Given the description of an element on the screen output the (x, y) to click on. 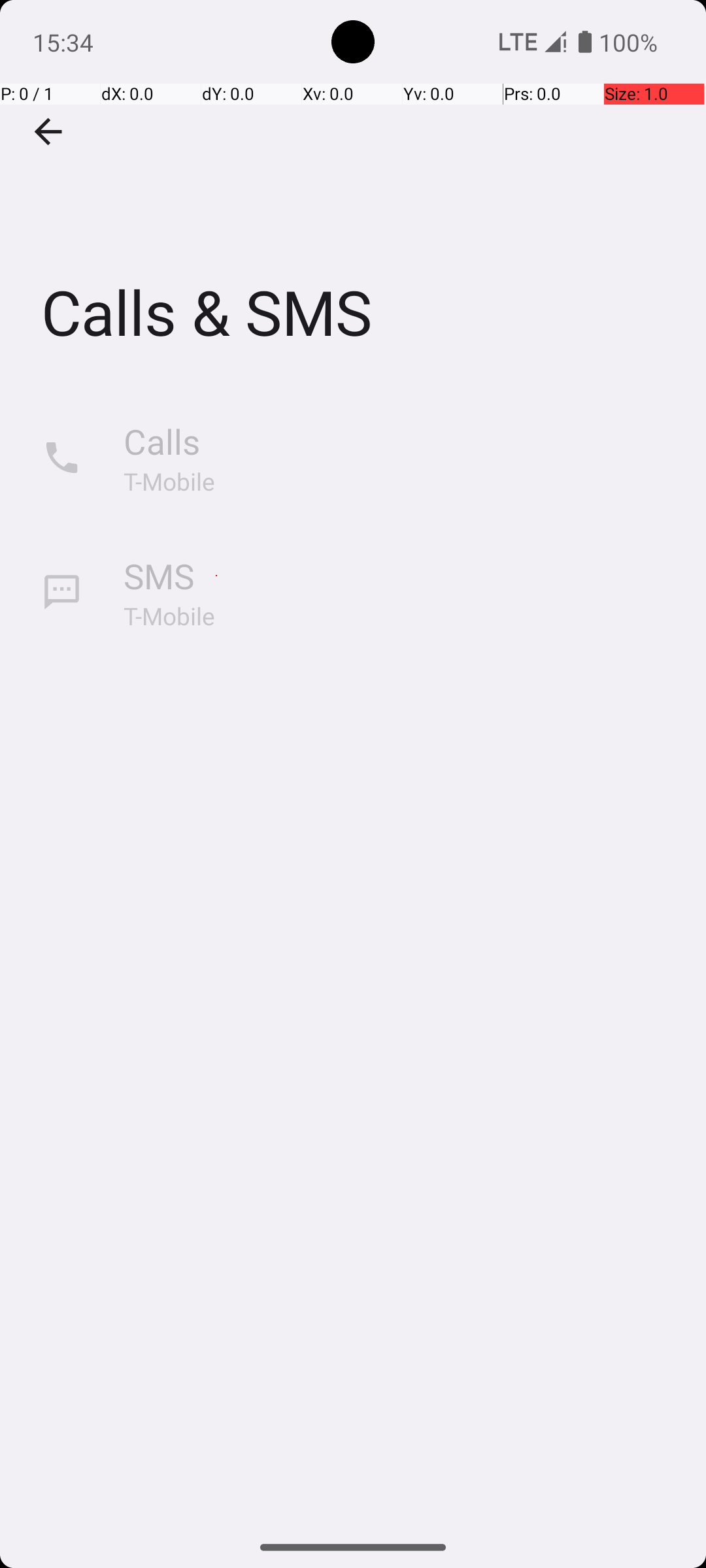
Calls Element type: android.widget.TextView (161, 441)
